Given the description of an element on the screen output the (x, y) to click on. 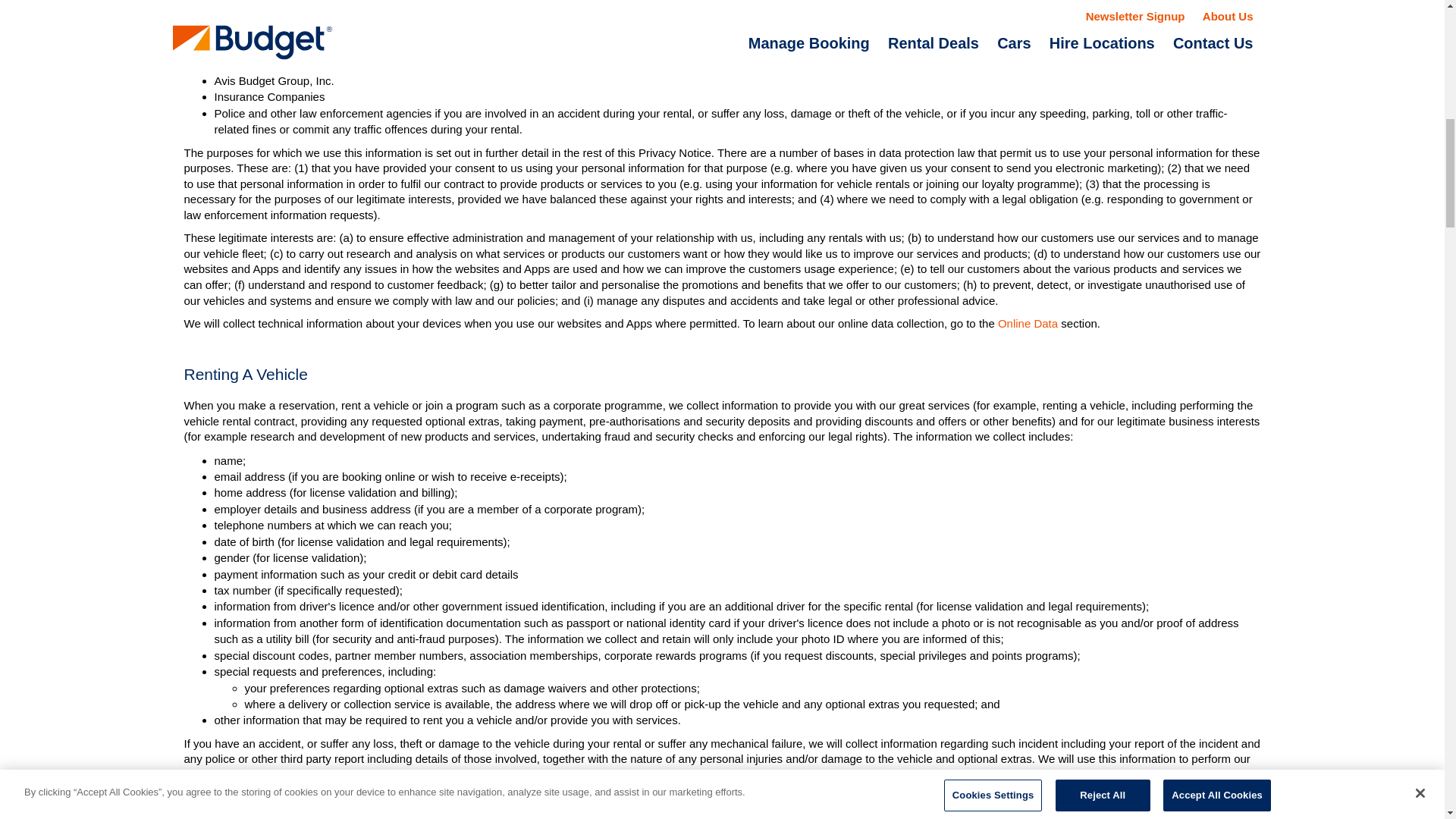
Online Data (1027, 323)
